Given the description of an element on the screen output the (x, y) to click on. 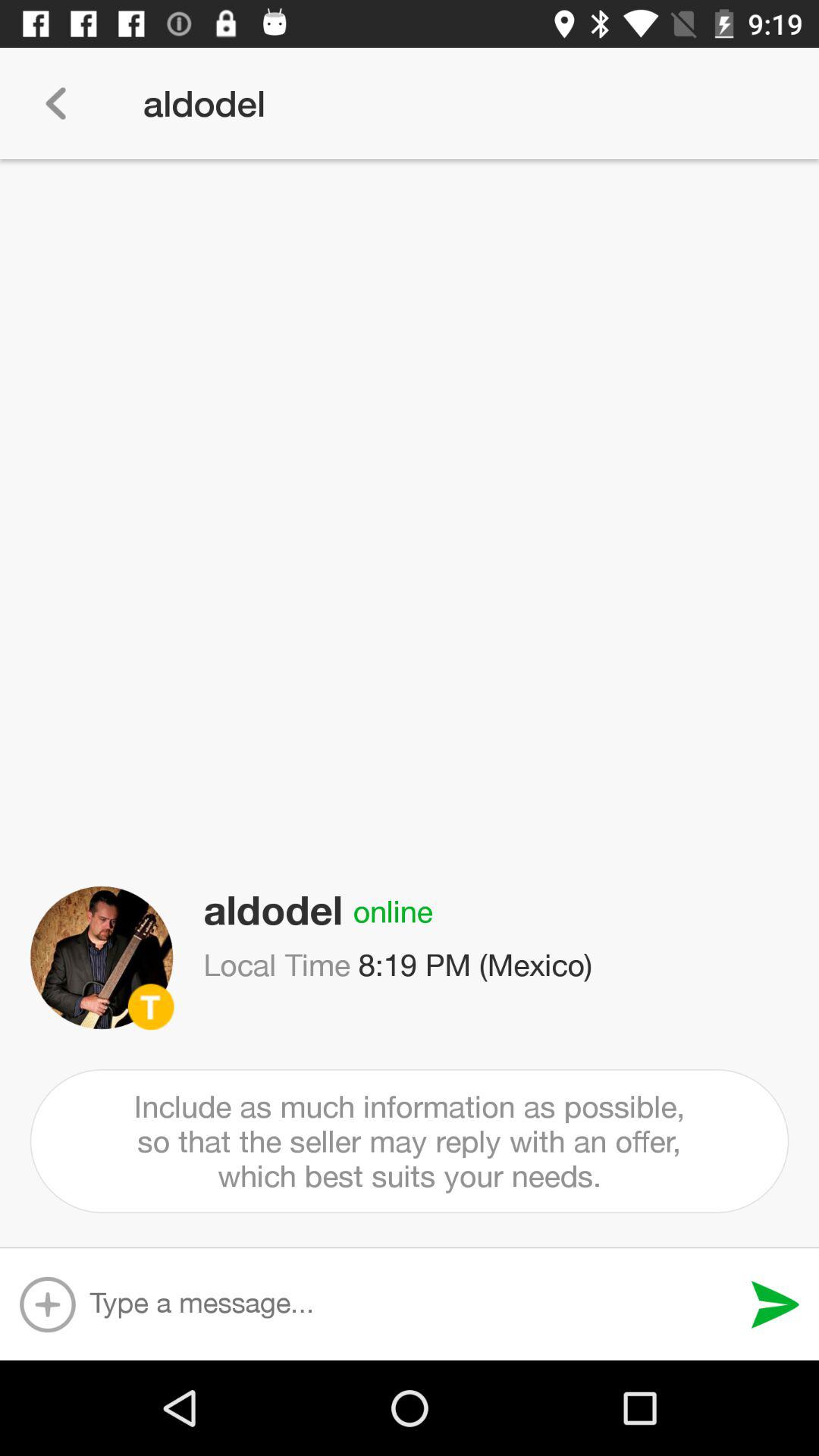
click on the image (101, 957)
